Given the description of an element on the screen output the (x, y) to click on. 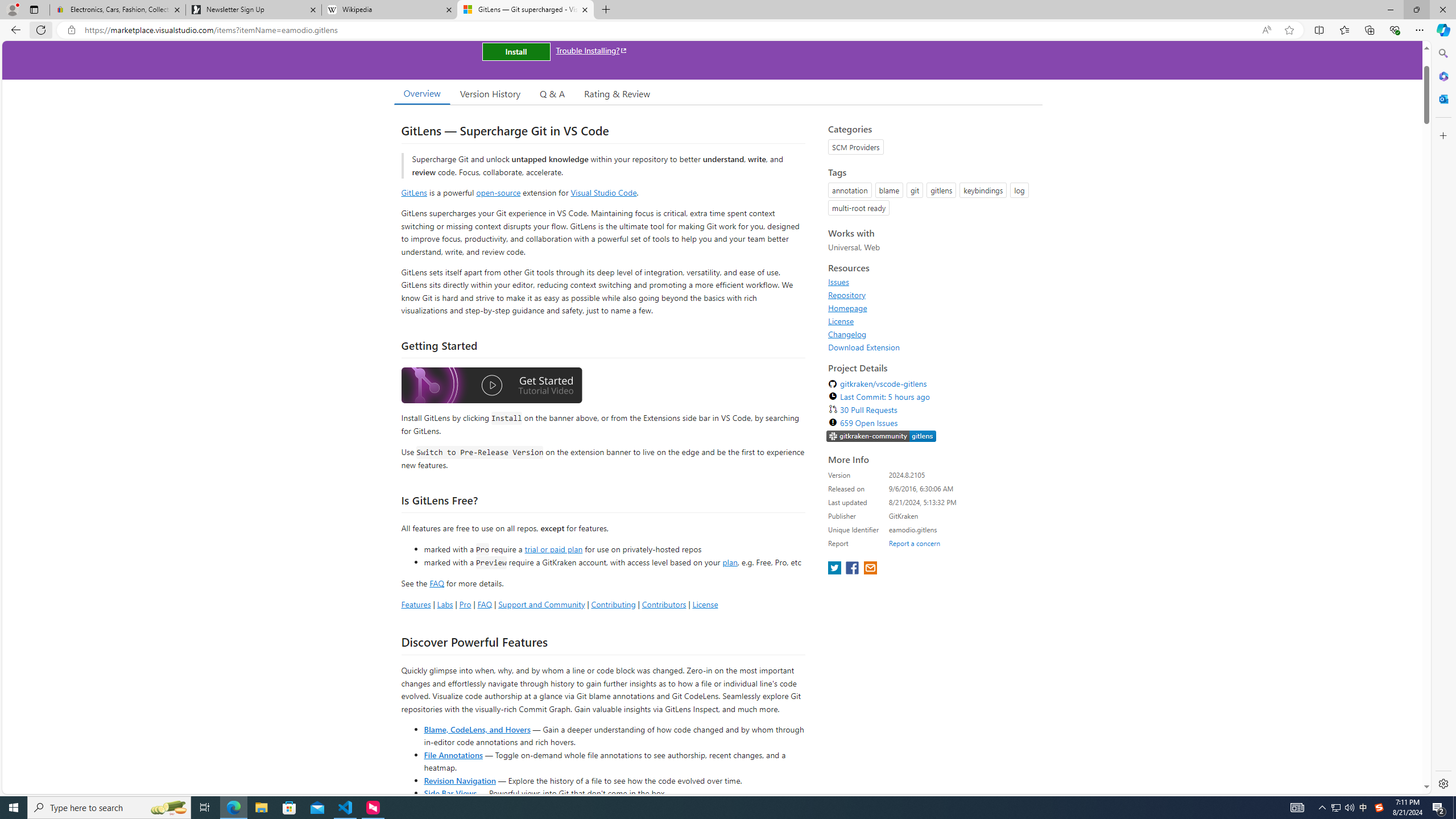
FAQ (484, 603)
Support and Community (541, 603)
Overview (421, 92)
Changelog (931, 333)
https://slack.gitkraken.com// (881, 436)
Watch the GitLens Getting Started video (491, 385)
Download Extension (863, 346)
